Given the description of an element on the screen output the (x, y) to click on. 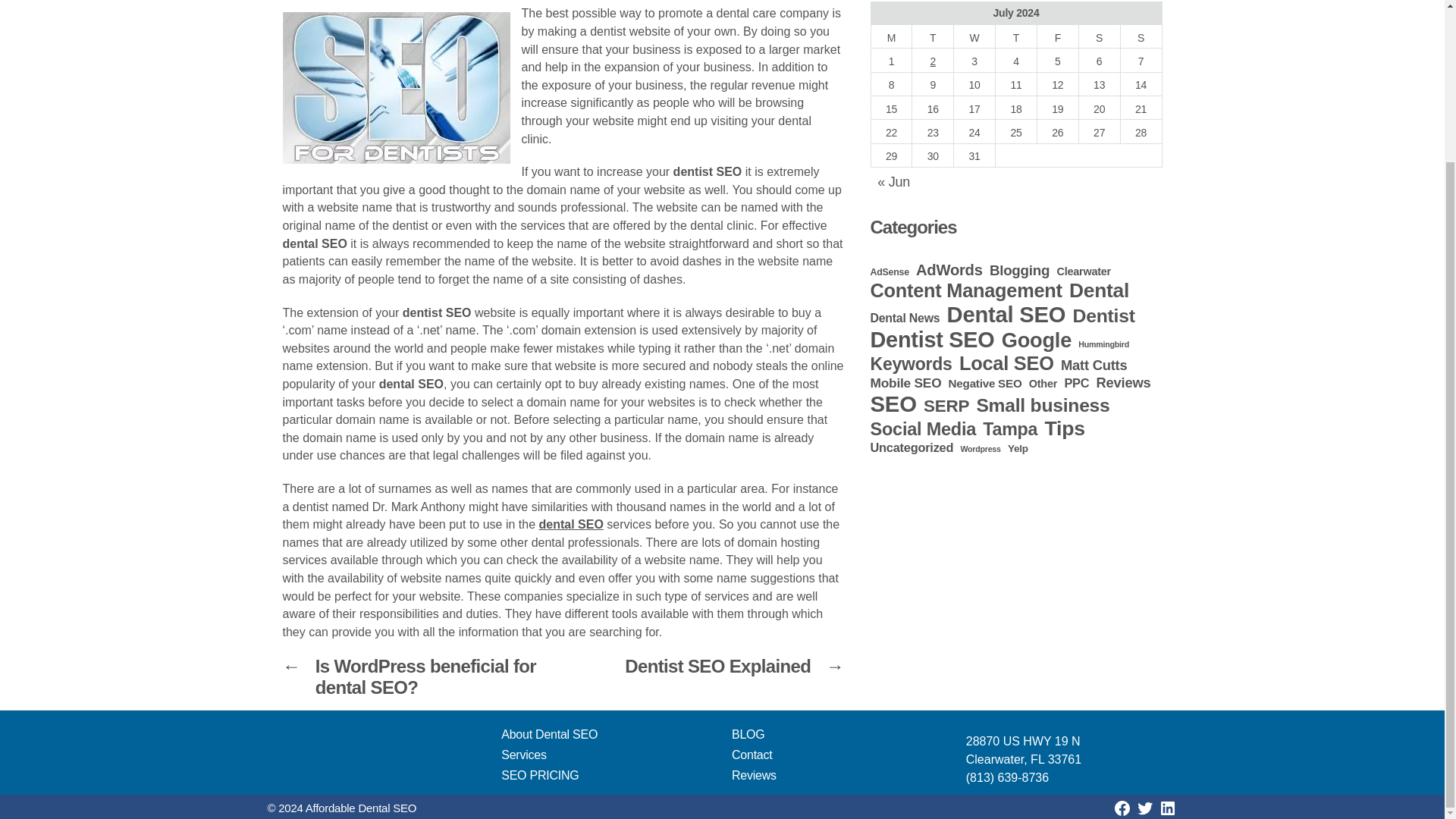
dental SEO (570, 523)
dentist SEO (395, 87)
Friday (1057, 36)
Monday (891, 36)
Sunday (1140, 36)
Saturday (1098, 36)
Tuesday (932, 36)
Dental SEO service (570, 523)
Wednesday (974, 36)
Thursday (1015, 36)
